Given the description of an element on the screen output the (x, y) to click on. 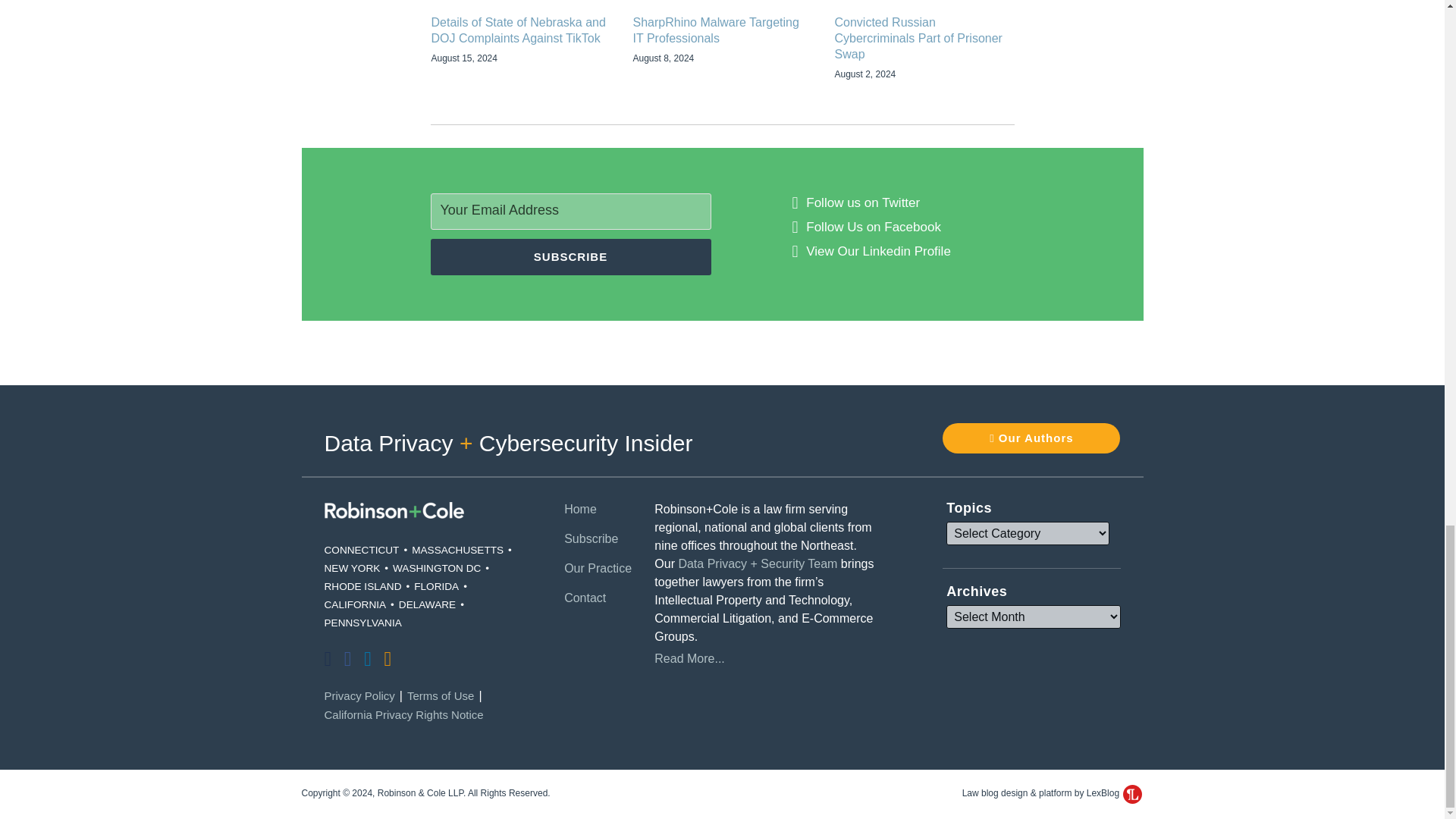
LexBlog Logo (1131, 793)
Subscribe (570, 257)
SharpRhino Malware Targeting IT Professionals (720, 30)
Subscribe (570, 257)
Convicted Russian Cybercriminals Part of Prisoner Swap (923, 38)
